Given the description of an element on the screen output the (x, y) to click on. 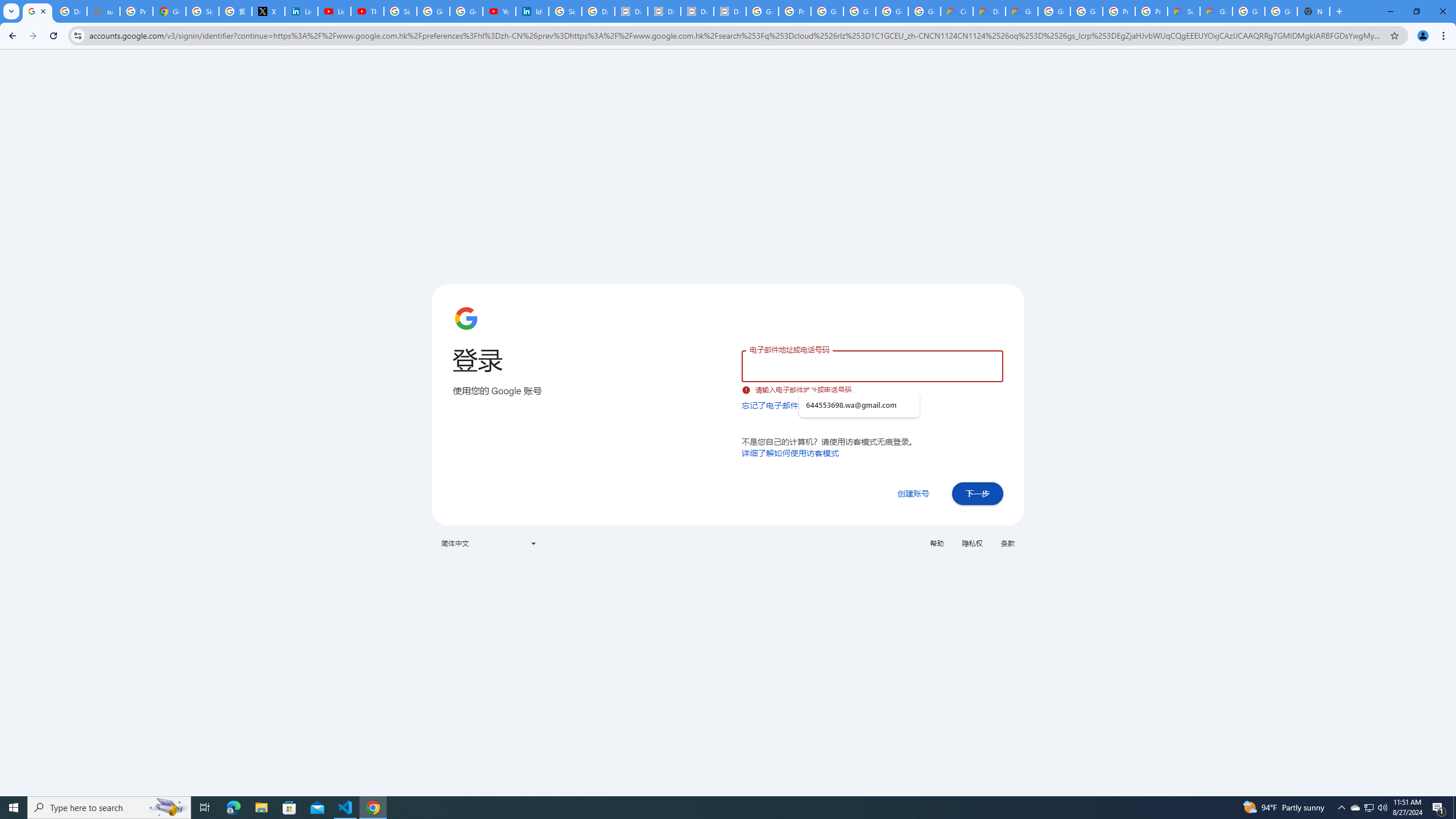
644553698.wa@gmail.com (858, 404)
Google Workspace - Specific Terms (891, 11)
Support Hub | Google Cloud (1183, 11)
Google Workspace - Specific Terms (924, 11)
